Given the description of an element on the screen output the (x, y) to click on. 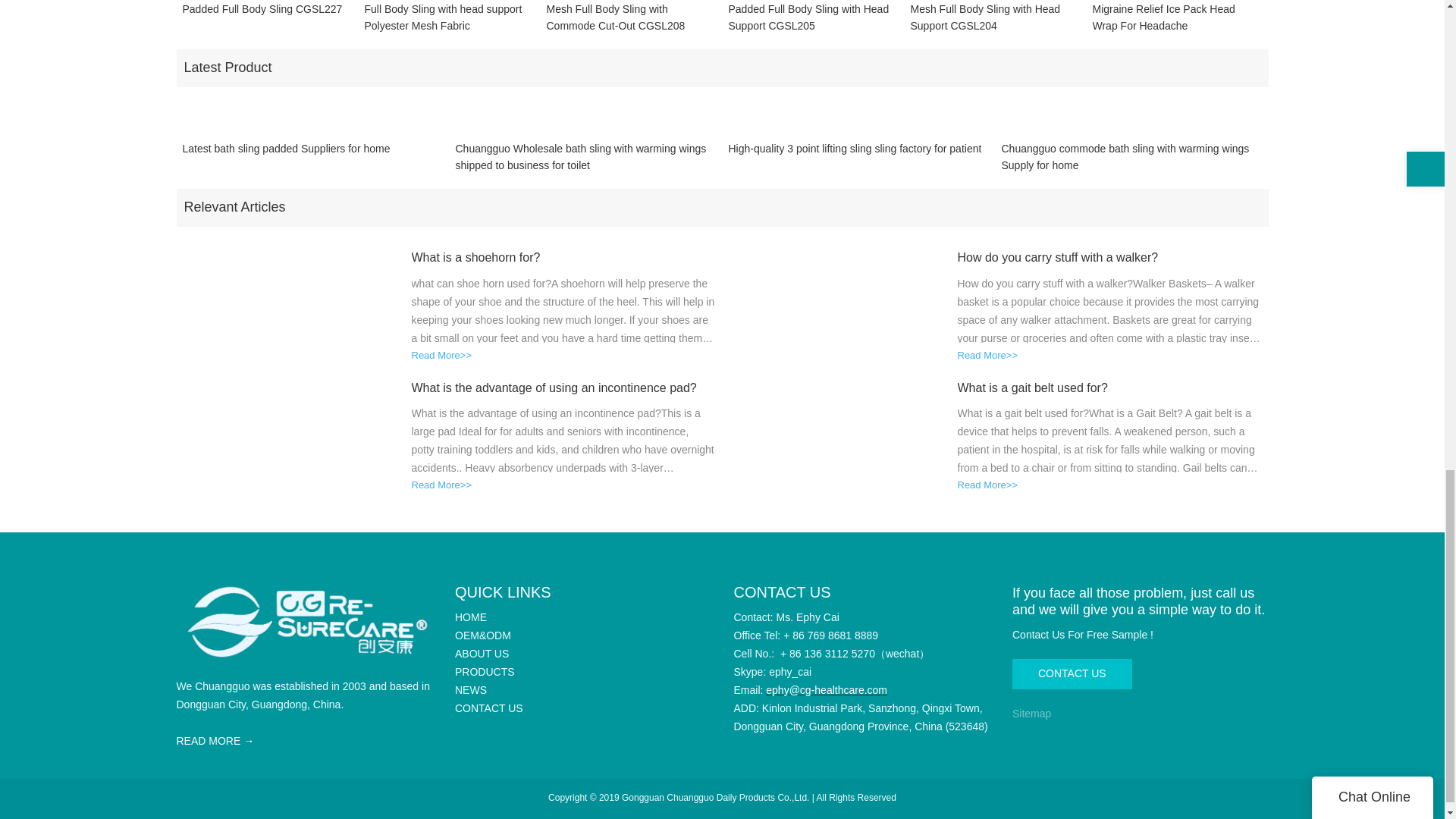
What is a gait belt used for? (1108, 388)
Latest bath sling padded Suppliers for home (286, 156)
What is a shoehorn for? (562, 257)
Mesh Full Body Sling with Commode Cut-Out CGSL208 (631, 17)
Padded Full Body Sling CGSL227 (262, 17)
Padded Full Body Sling with Head Support CGSL205 (813, 17)
Full Body Sling with head support Polyester Mesh Fabric (449, 17)
What is the advantage of using an incontinence pad? (562, 388)
High-quality 3 point lifting sling sling factory for patient (854, 156)
Migraine Relief Ice Pack Head Wrap For Headache (1177, 17)
How do you carry stuff with a walker? (1108, 257)
Mesh Full Body Sling with Head Support CGSL204 (995, 17)
